Given the description of an element on the screen output the (x, y) to click on. 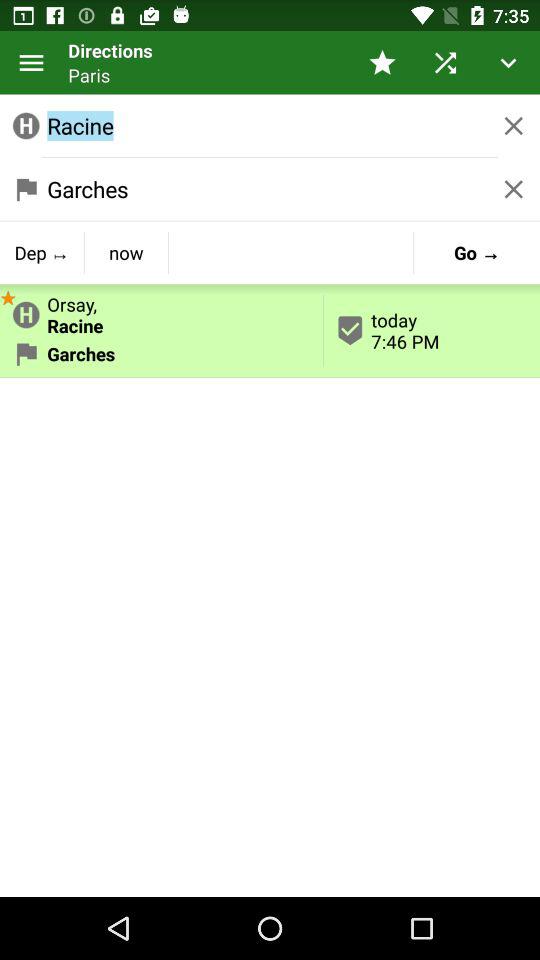
tap the orsay,
racine app (161, 311)
